Given the description of an element on the screen output the (x, y) to click on. 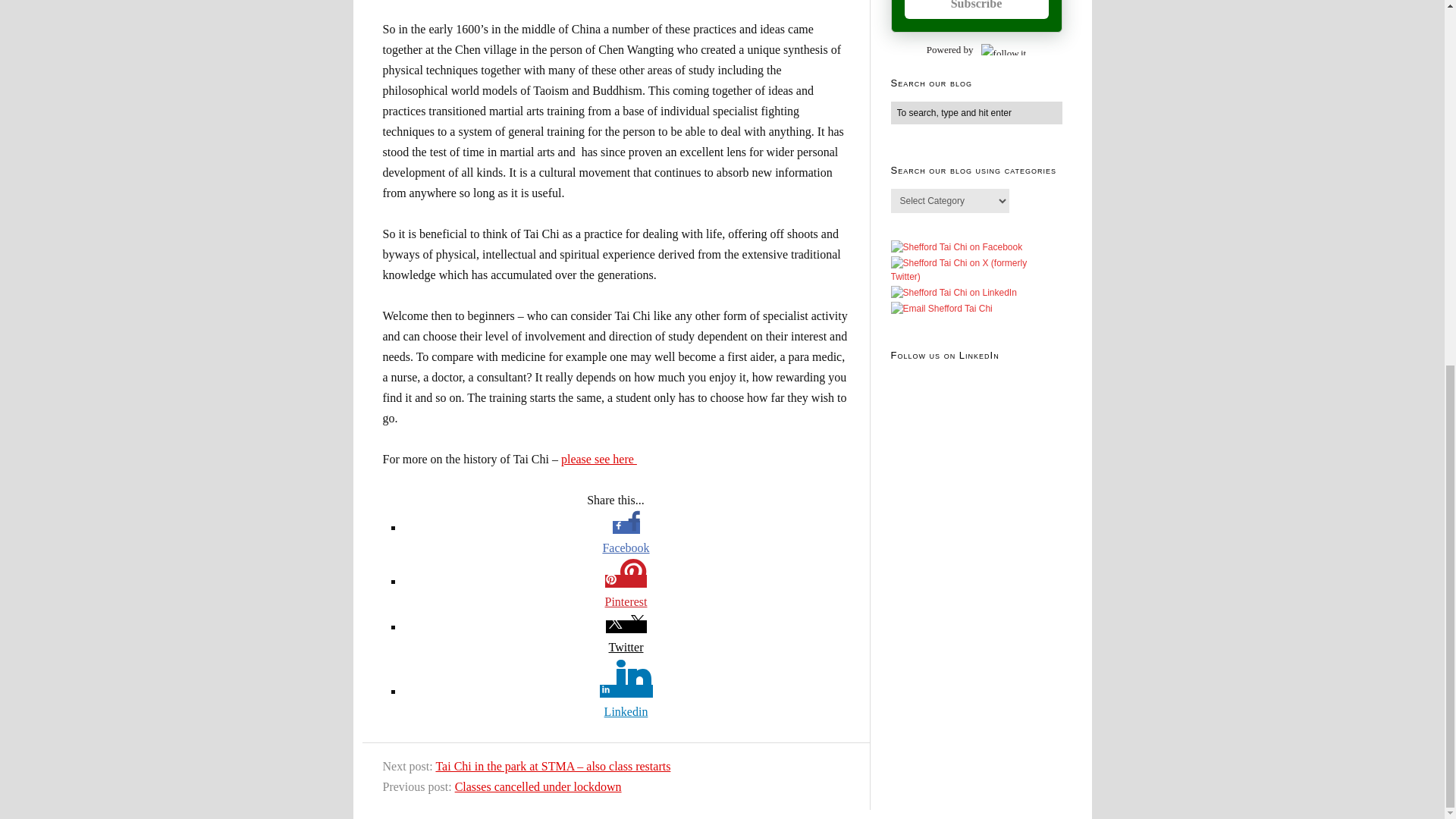
Subscribe (976, 9)
Shefford Tai Chi on LinkedIn (952, 292)
Linkedin (625, 702)
To search, type and hit enter (975, 112)
Shefford Tai Chi on Facebook (955, 246)
Classes cancelled under lockdown (537, 786)
Pinterest (625, 592)
Twitter (625, 647)
Facebook (625, 538)
Twitter (625, 638)
